Given the description of an element on the screen output the (x, y) to click on. 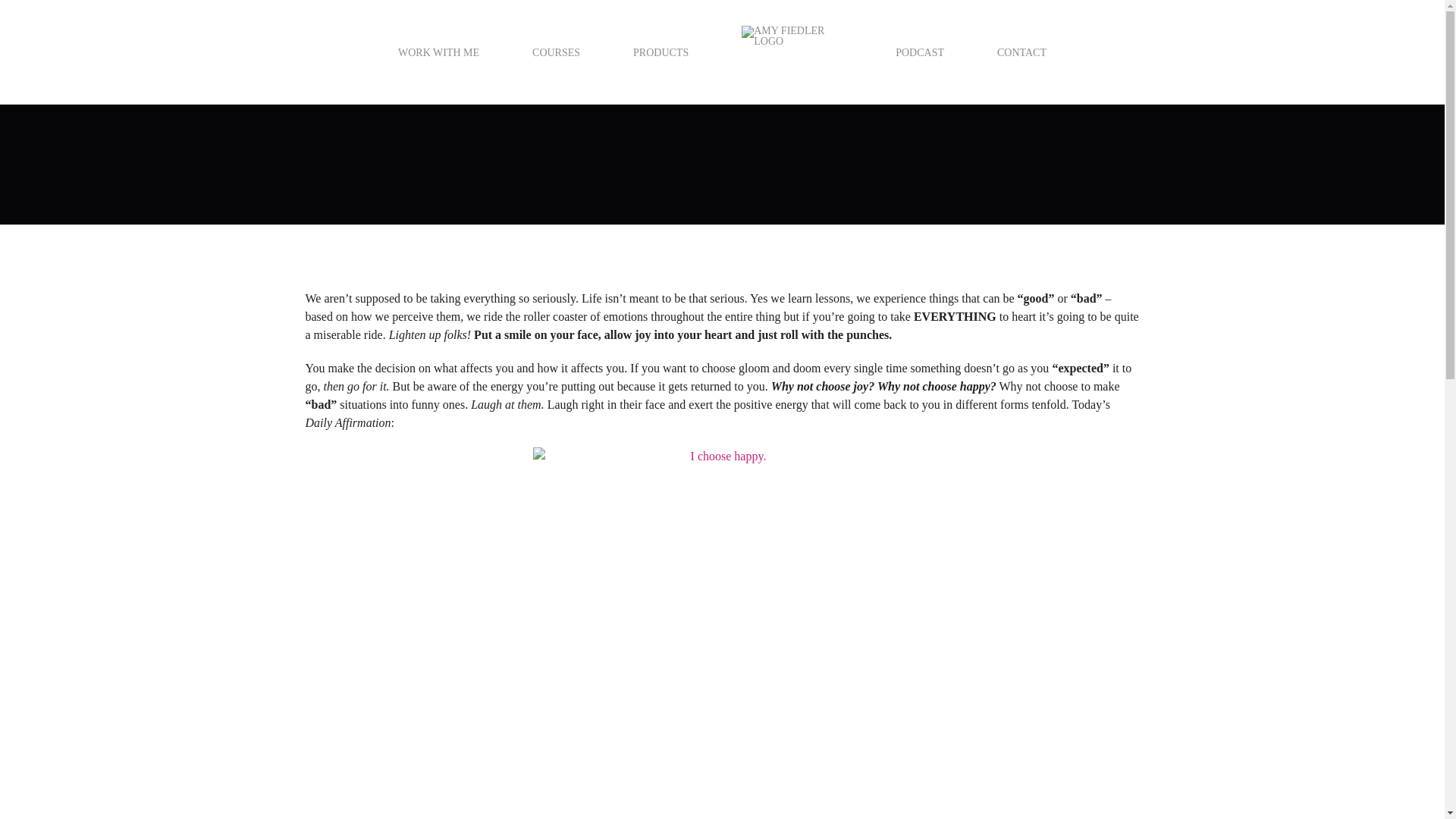
WORK WITH ME (438, 52)
